Given the description of an element on the screen output the (x, y) to click on. 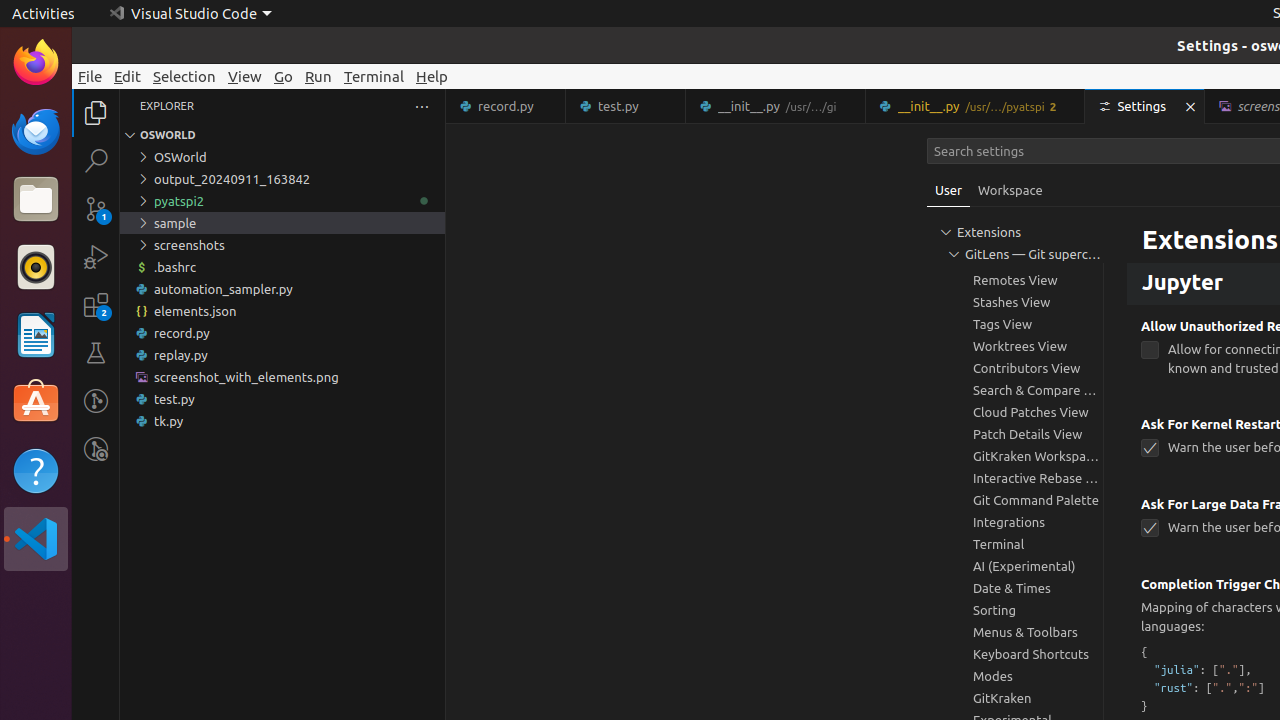
json.validate.enable Element type: check-box (1150, 228)
record.py Element type: tree-item (282, 333)
jupyter.allowUnauthorizedRemoteConnection Element type: check-box (1150, 350)
output_20240911_163842 Element type: tree-item (282, 179)
